Given the description of an element on the screen output the (x, y) to click on. 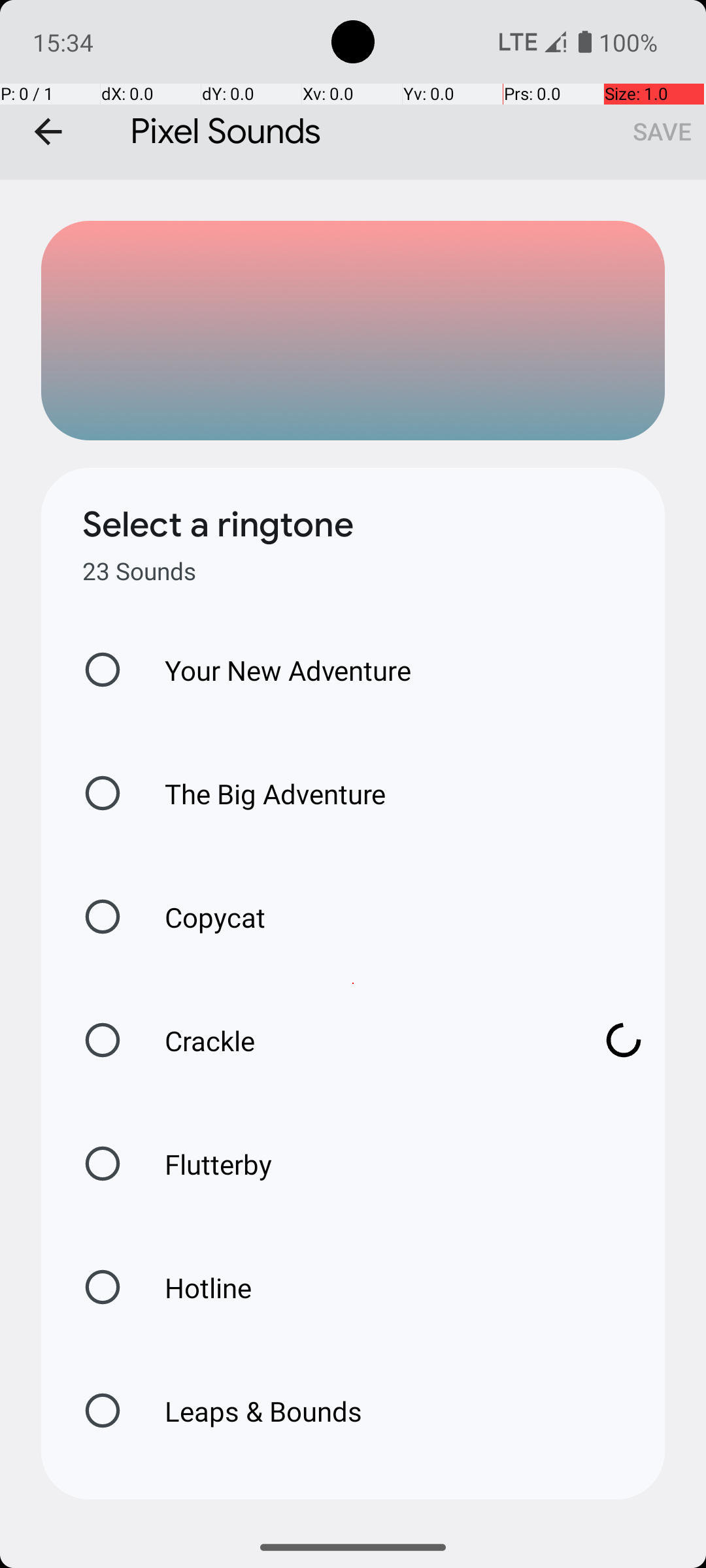
Pixel Sounds Element type: android.widget.FrameLayout (353, 89)
Select a ringtone Element type: android.widget.TextView (217, 524)
23 Sounds Element type: android.widget.TextView (139, 570)
Your New Adventure Element type: android.widget.TextView (274, 669)
The Big Adventure Element type: android.widget.TextView (261, 793)
Copycat Element type: android.widget.TextView (201, 916)
Crackle Element type: android.widget.TextView (359, 1040)
Download in progress Element type: android.widget.ImageView (623, 1039)
Flutterby Element type: android.widget.TextView (204, 1163)
Hotline Element type: android.widget.TextView (194, 1287)
Leaps & Bounds Element type: android.widget.TextView (249, 1410)
